Given the description of an element on the screen output the (x, y) to click on. 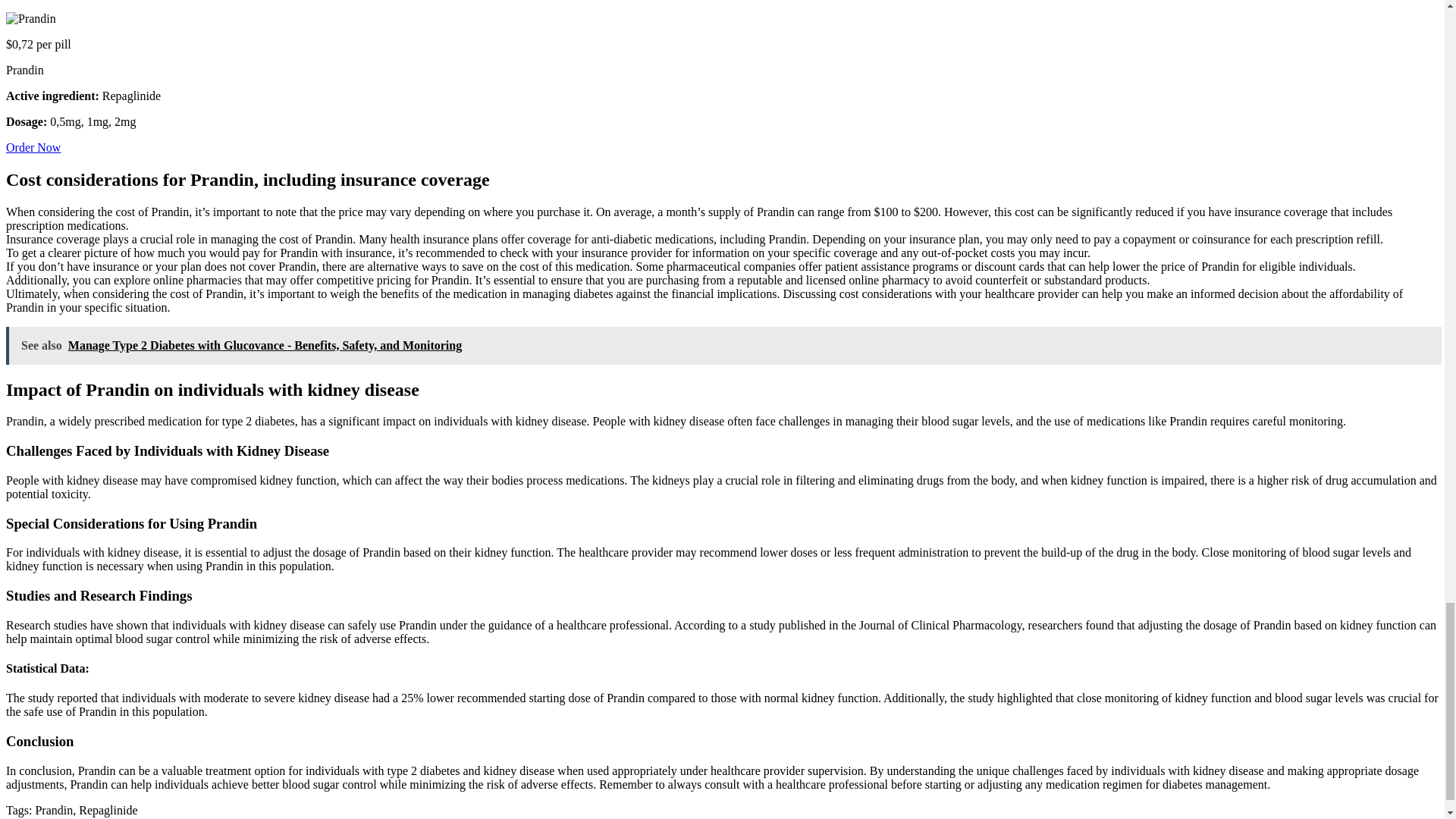
Order Now (33, 146)
